Given the description of an element on the screen output the (x, y) to click on. 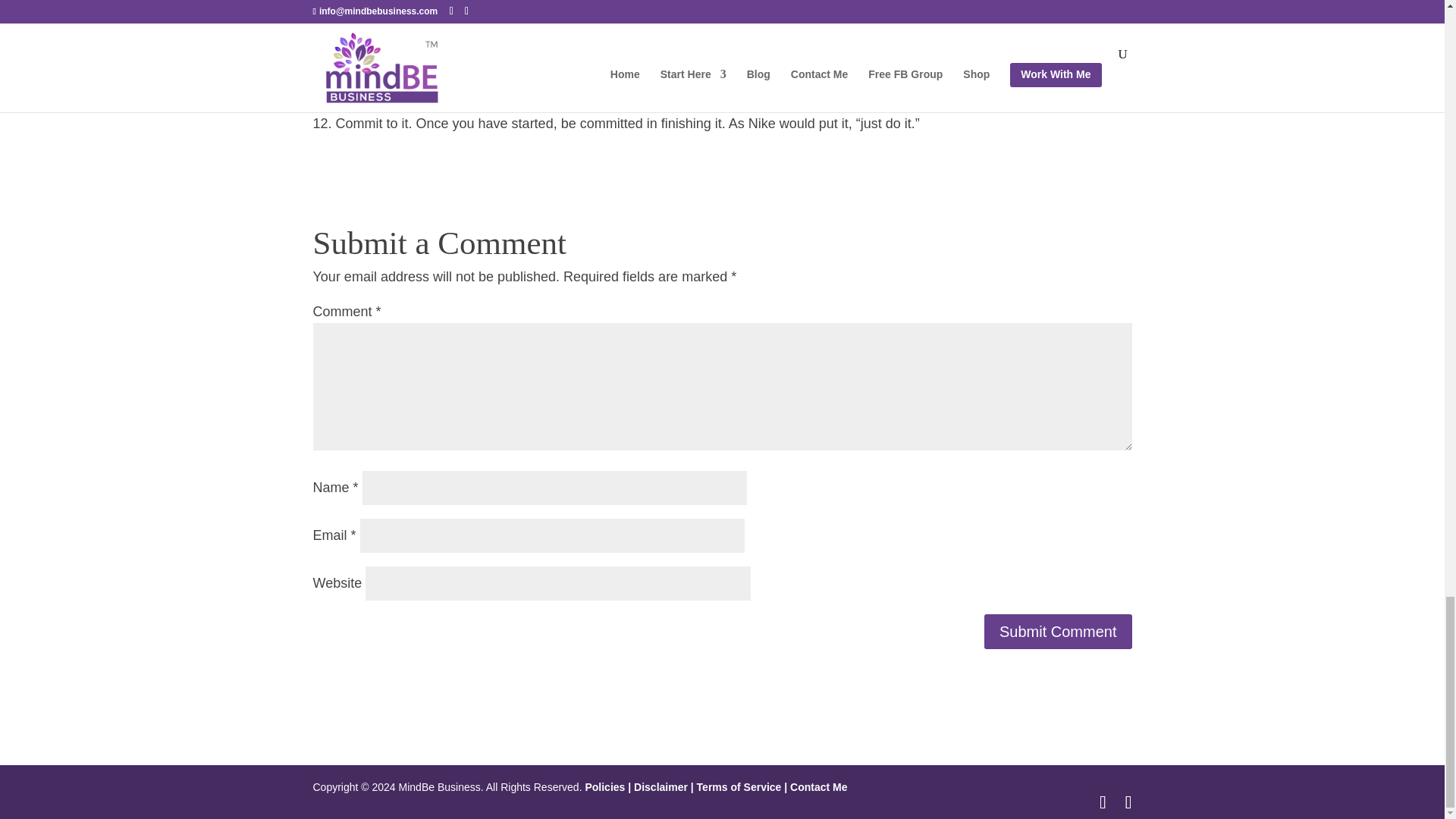
Submit Comment (1058, 631)
Submit Comment (1058, 631)
Contact Me (817, 787)
